Given the description of an element on the screen output the (x, y) to click on. 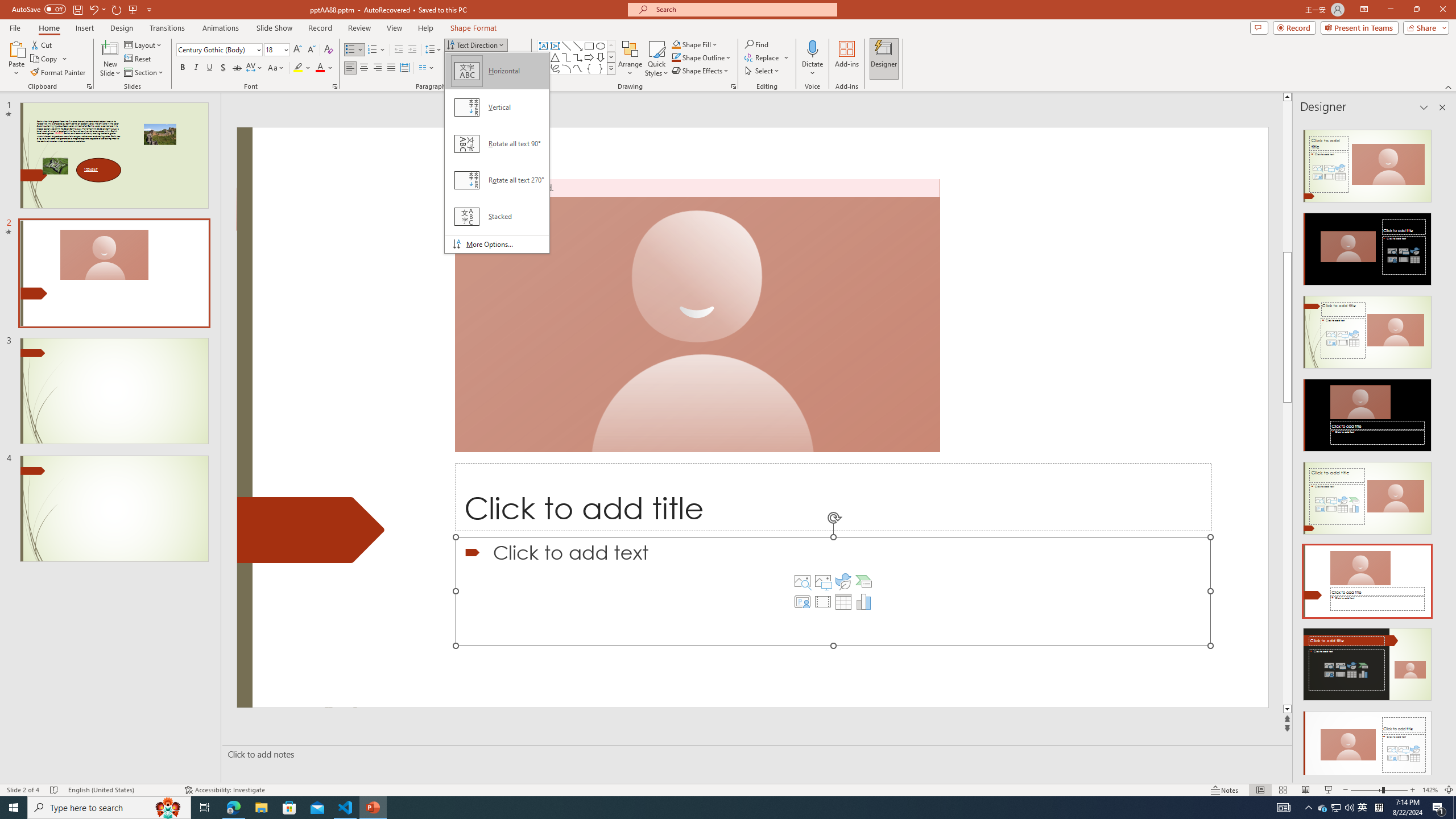
Zoom 142% (1430, 790)
